Given the description of an element on the screen output the (x, y) to click on. 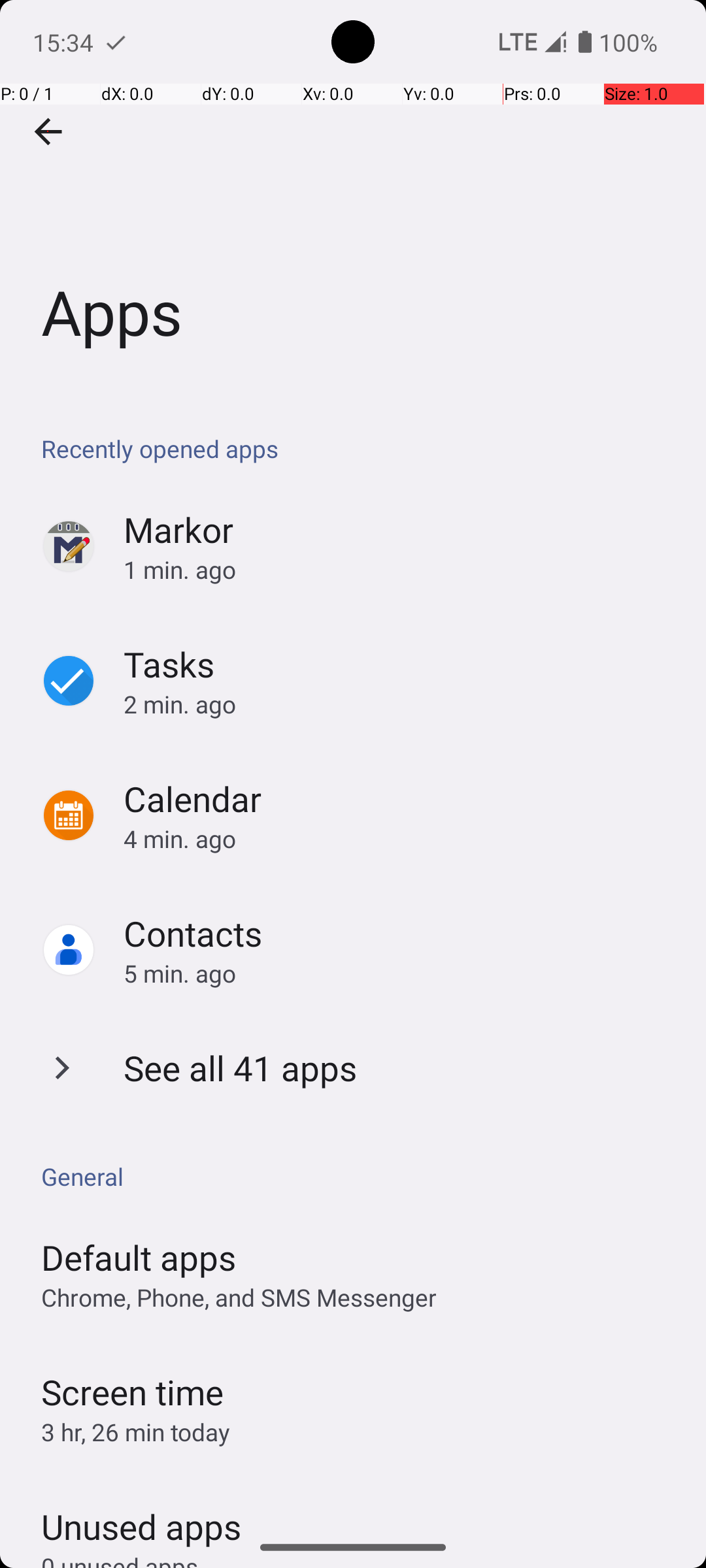
4 min. ago Element type: android.widget.TextView (400, 838)
5 min. ago Element type: android.widget.TextView (400, 972)
3 hr, 26 min today Element type: android.widget.TextView (135, 1431)
